Given the description of an element on the screen output the (x, y) to click on. 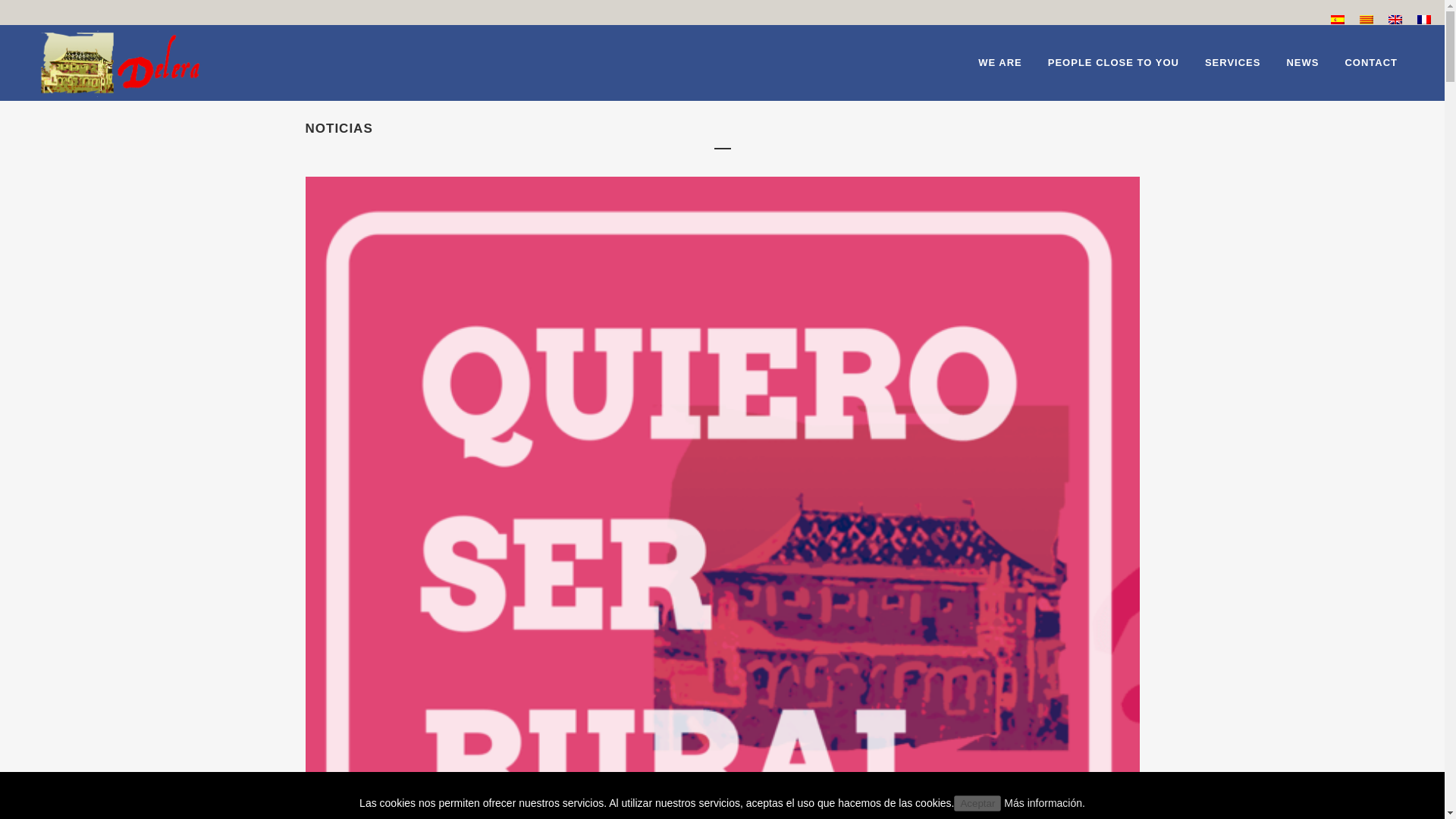
CONTACT (1371, 62)
NEWS (1302, 62)
WE ARE (1000, 62)
SERVICES (1233, 62)
PEOPLE CLOSE TO YOU (1113, 62)
